Given the description of an element on the screen output the (x, y) to click on. 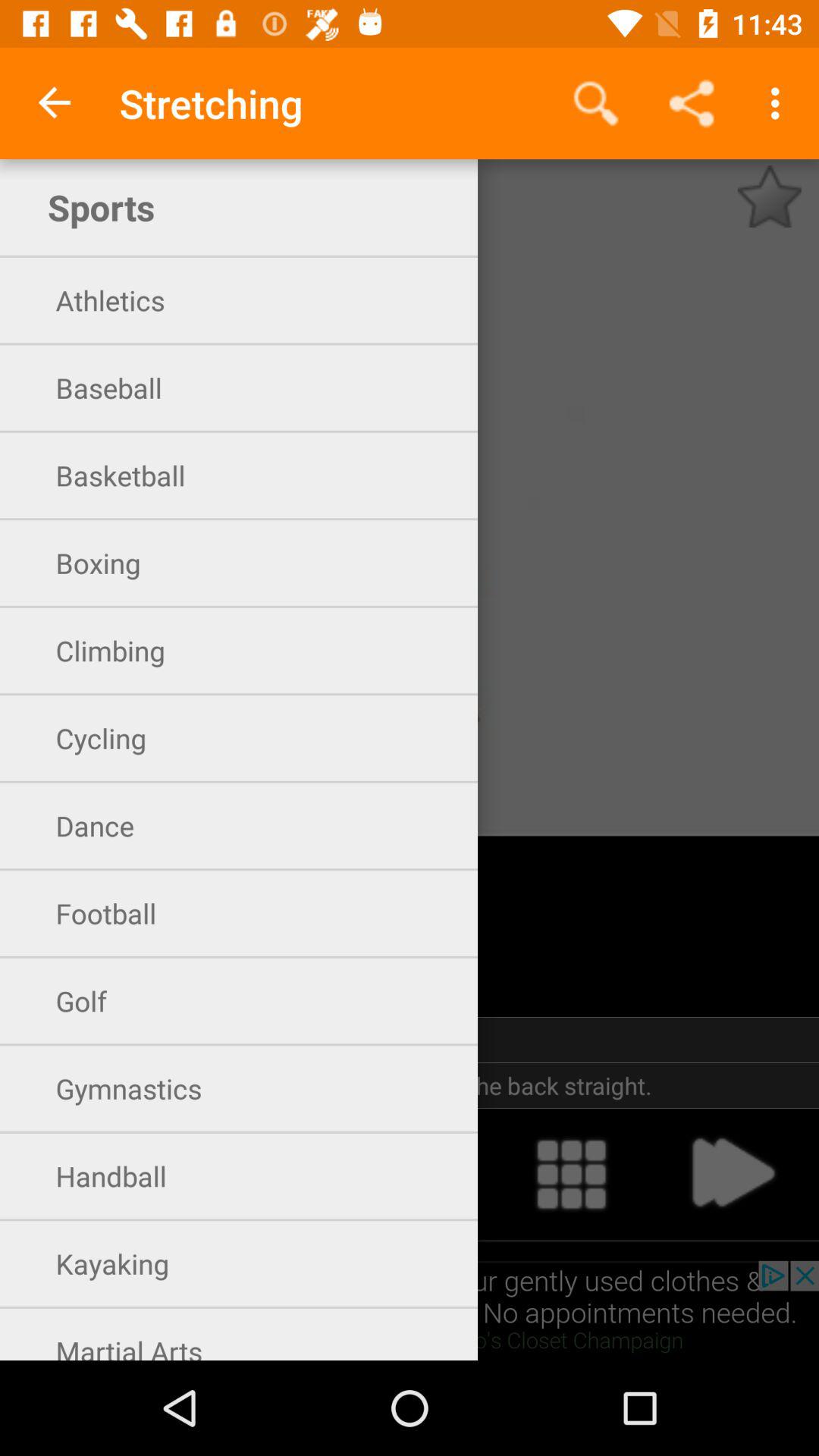
press icon to the right of stretching (595, 103)
